Given the description of an element on the screen output the (x, y) to click on. 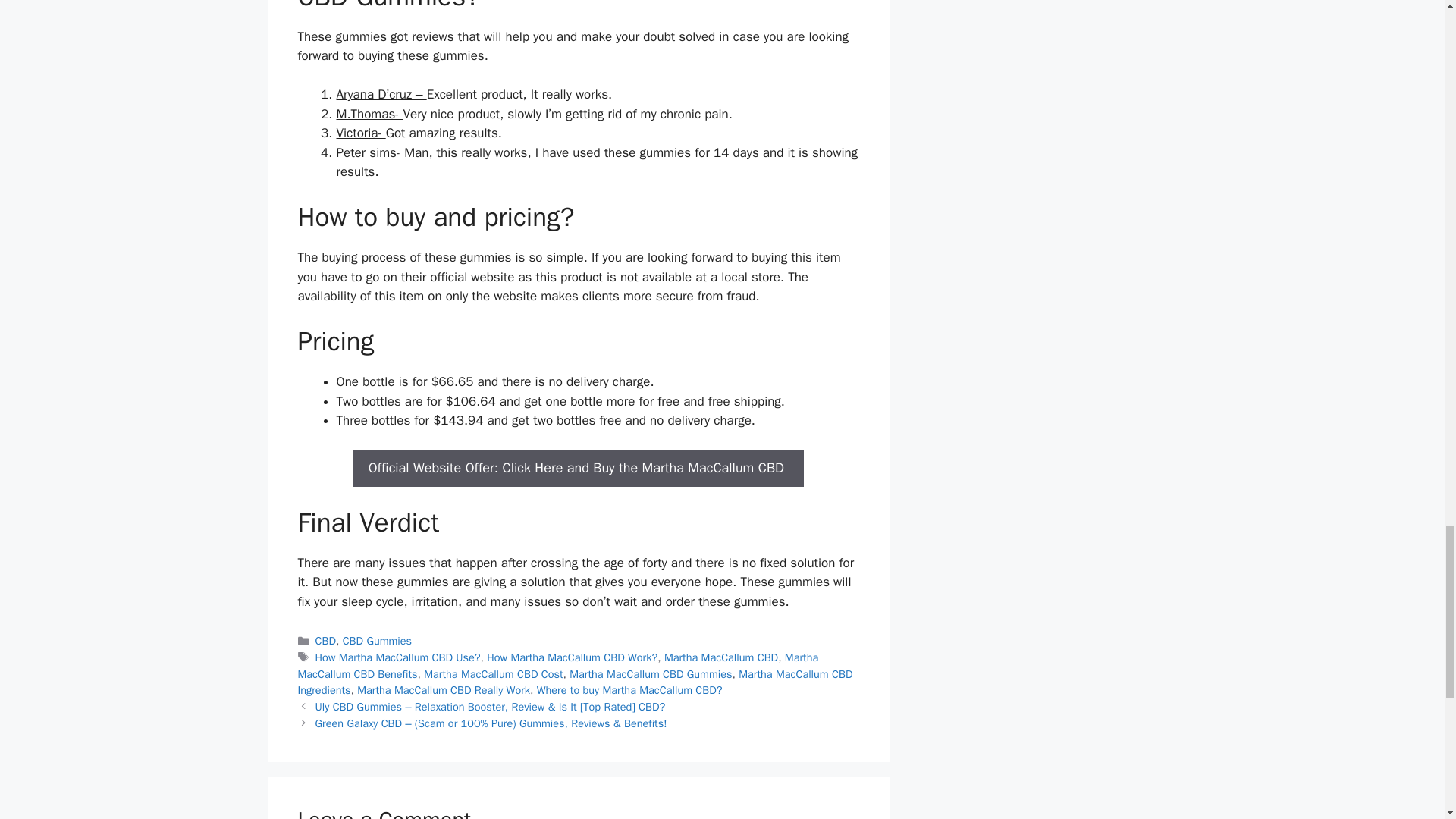
Martha MacCallum CBD Really Work (442, 689)
CBD (325, 640)
Martha MacCallum CBD Benefits (557, 665)
CBD Gummies (377, 640)
How Martha MacCallum CBD Use? (397, 657)
Martha MacCallum CBD Cost (492, 673)
Martha MacCallum CBD Gummies (650, 673)
Martha MacCallum CBD (720, 657)
